Given the description of an element on the screen output the (x, y) to click on. 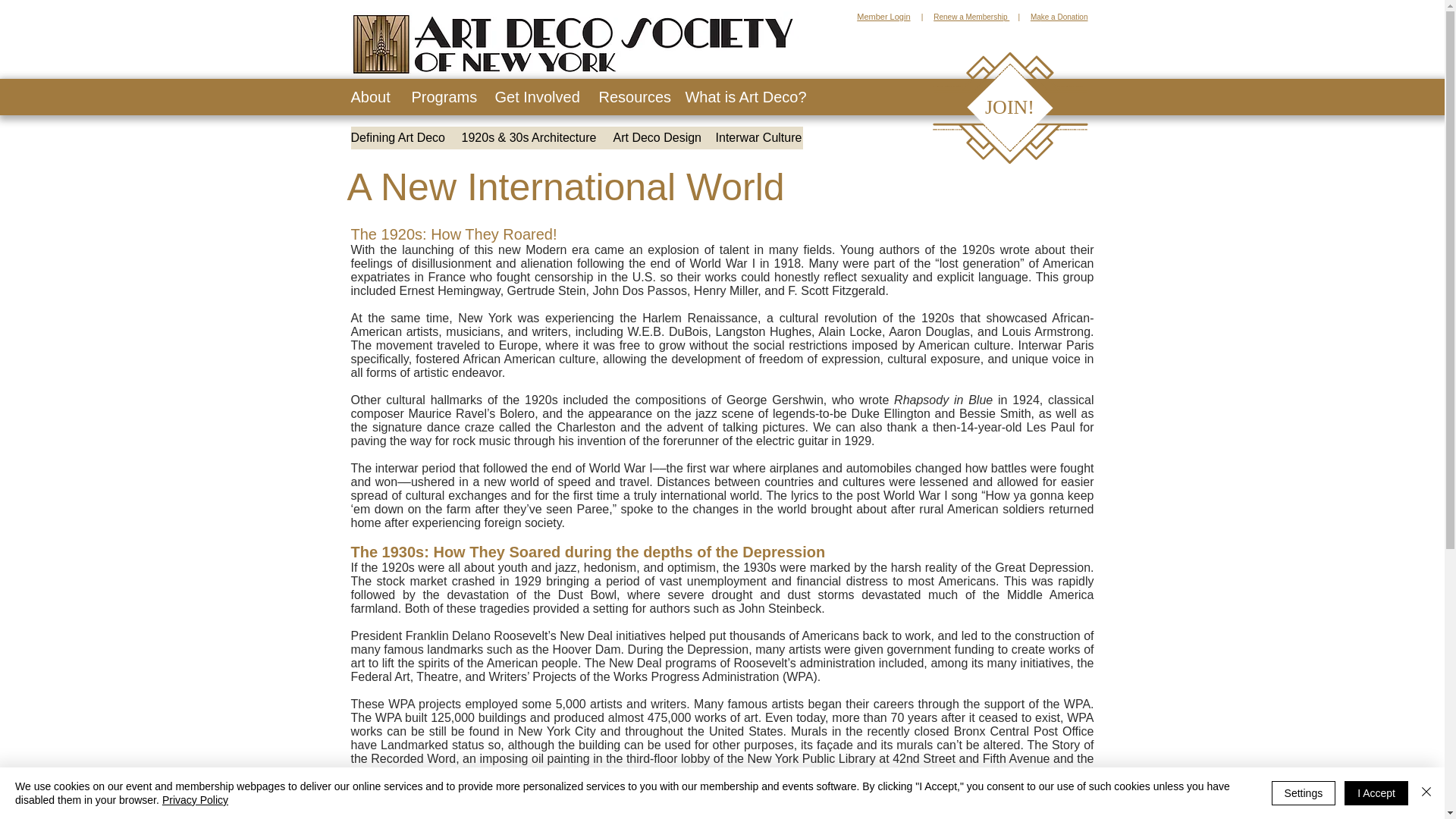
Get Involved (535, 96)
Make a Donation (1058, 17)
Interwar Culture (759, 137)
Defining Art Deco (397, 137)
Privacy Policy (194, 799)
Member Login (883, 17)
Programs (441, 96)
About (369, 96)
What is Art Deco? (744, 96)
Art Deco Design (656, 137)
Renew a Membership  (971, 17)
Settings (1303, 793)
Resources (631, 96)
JOIN! (1010, 107)
I Accept (1375, 793)
